Given the description of an element on the screen output the (x, y) to click on. 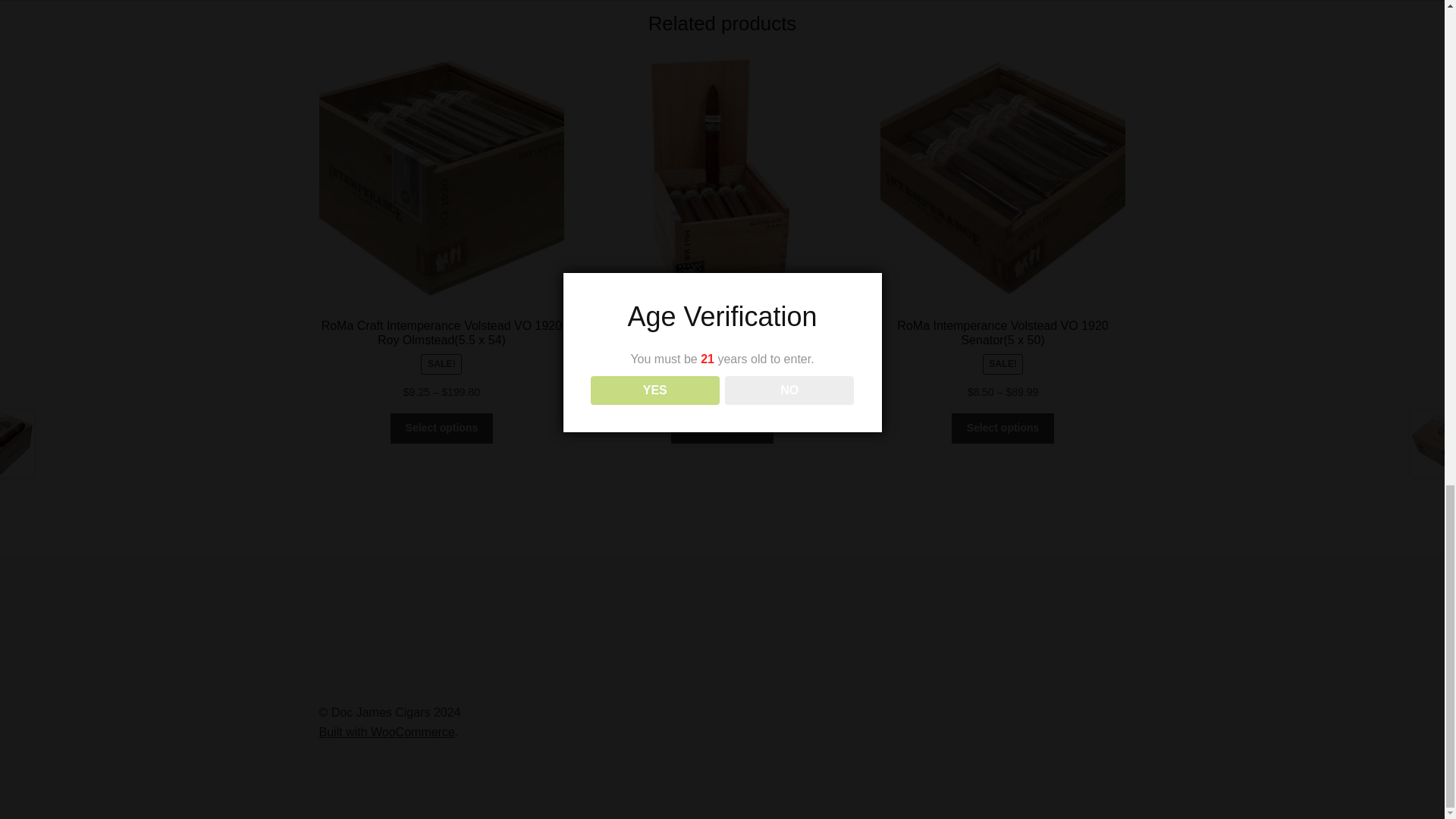
WooCommerce - The Best eCommerce Platform for WordPress (386, 731)
